Given the description of an element on the screen output the (x, y) to click on. 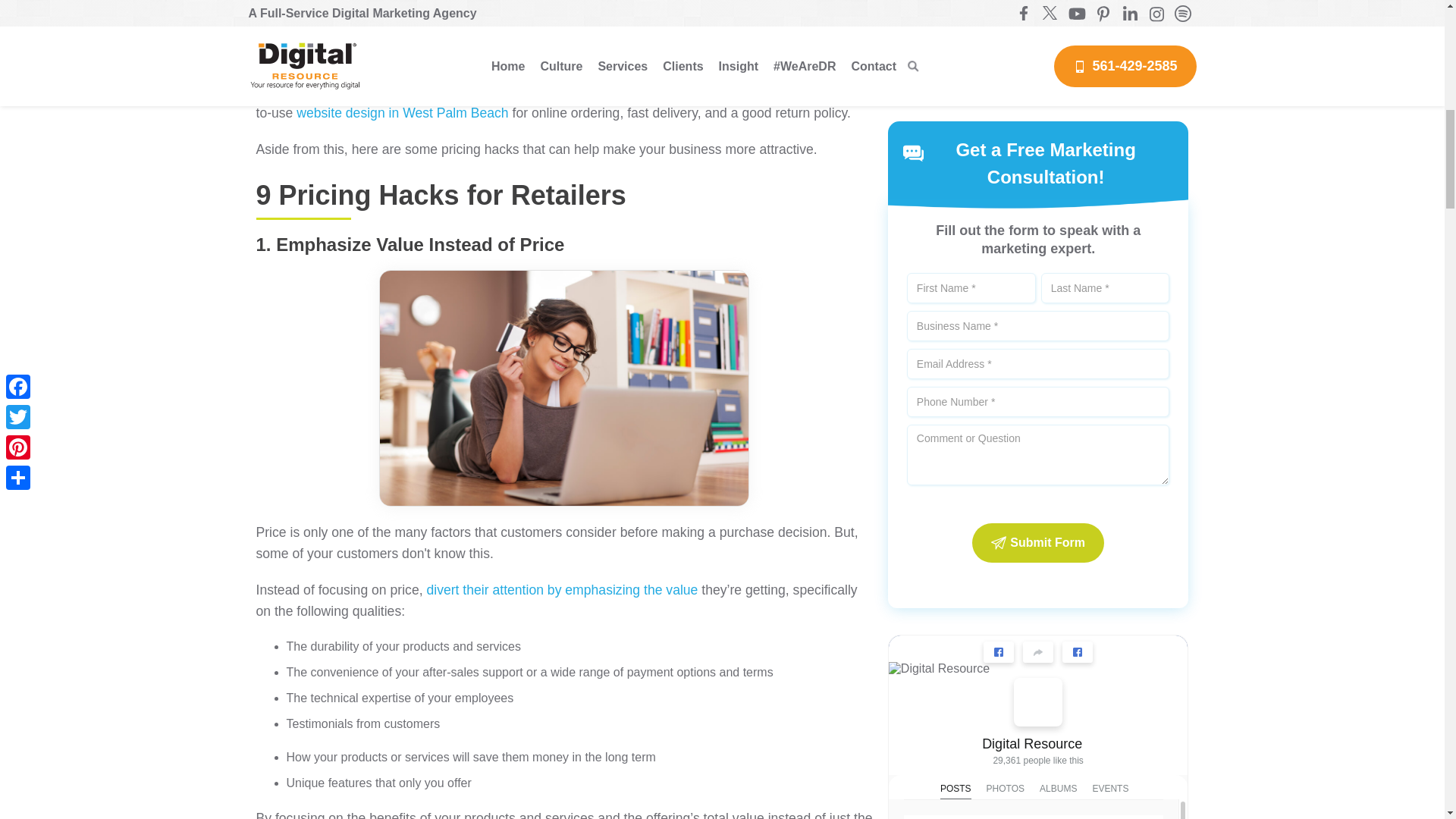
Love: 1 (934, 659)
Like: 3 (921, 659)
Digital Resource on Facebook (1037, 110)
Like: 2 (921, 397)
